Given the description of an element on the screen output the (x, y) to click on. 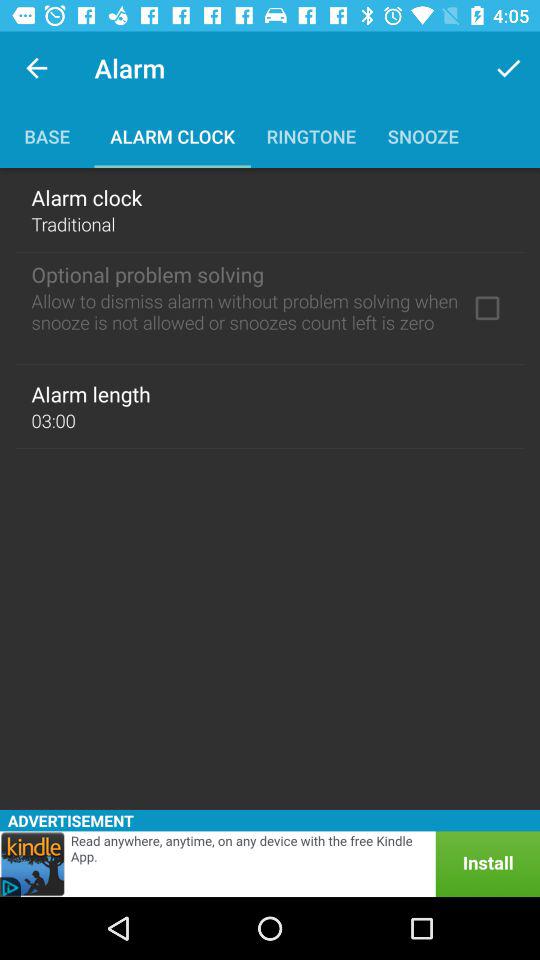
tap icon above the alarm clock icon (508, 67)
